Given the description of an element on the screen output the (x, y) to click on. 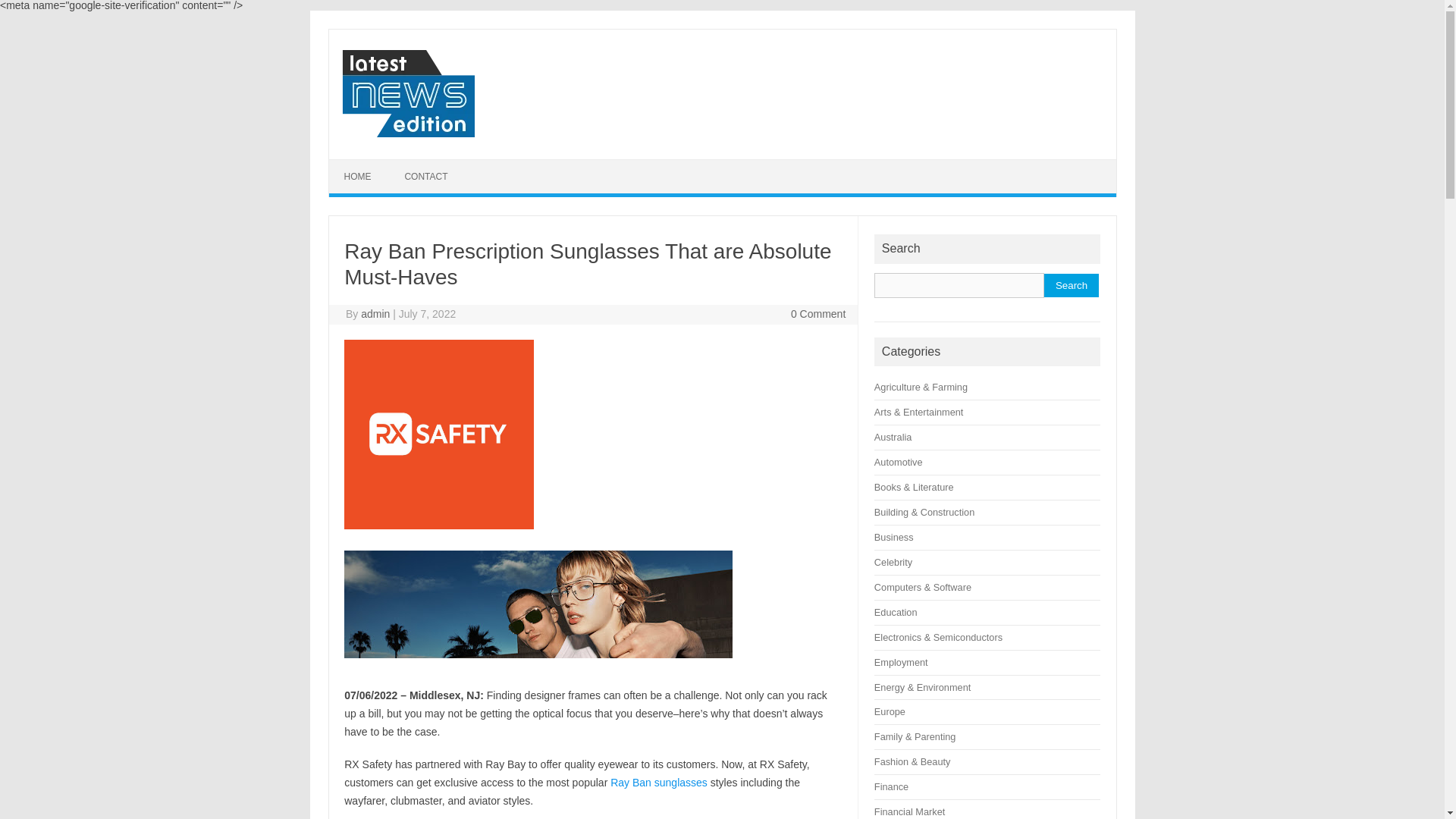
Europe (890, 711)
Business (894, 536)
Australia (893, 437)
Latest News Edition (407, 133)
CONTACT (425, 176)
Ray Ban sunglasses (658, 782)
Search (1070, 285)
HOME (358, 176)
Skip to content (363, 163)
Education (896, 612)
